Given the description of an element on the screen output the (x, y) to click on. 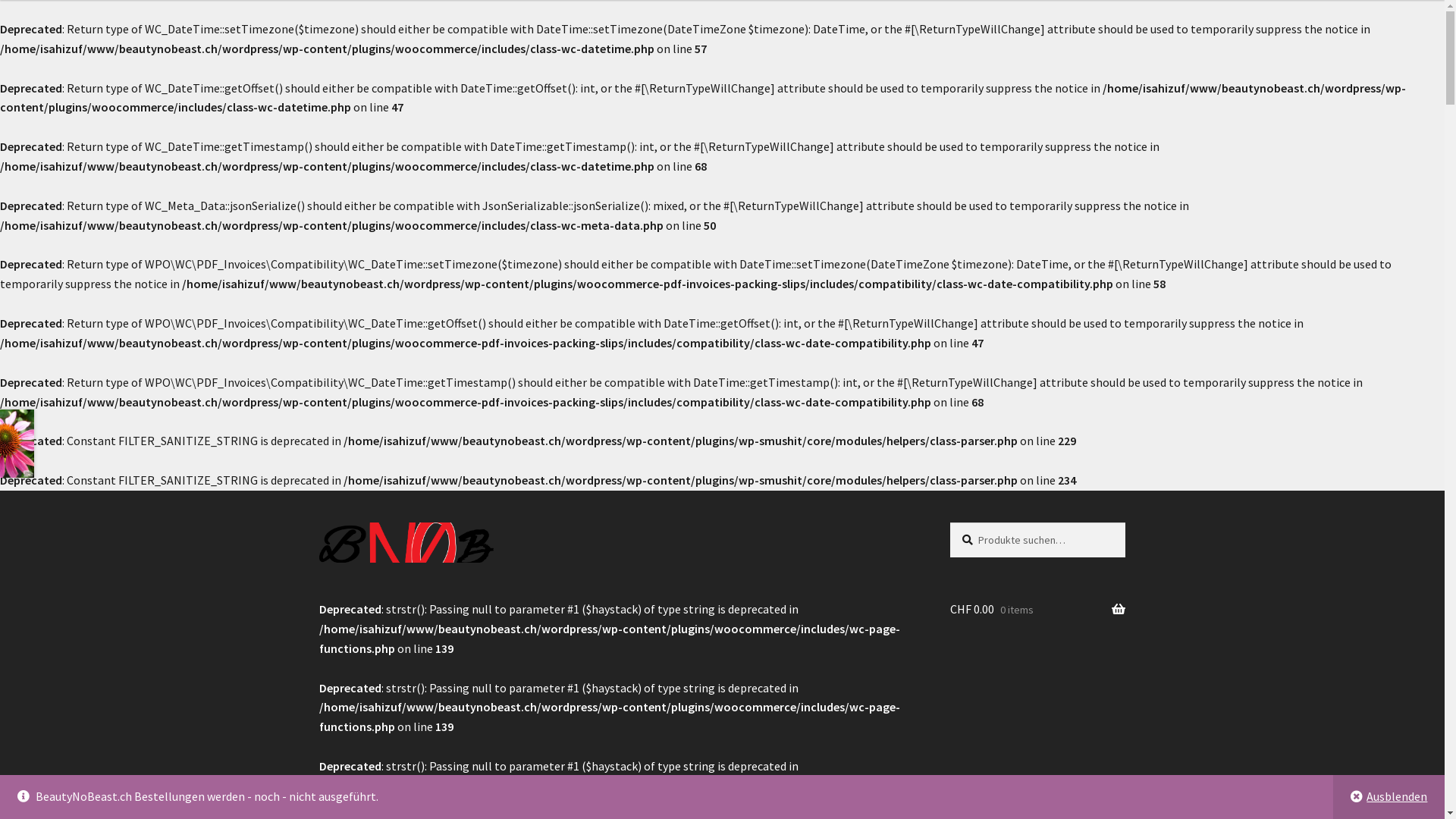
Skip to navigation Element type: text (318, 521)
CHF 0.00 0 items Element type: text (1037, 609)
Suche Element type: text (949, 521)
